Given the description of an element on the screen output the (x, y) to click on. 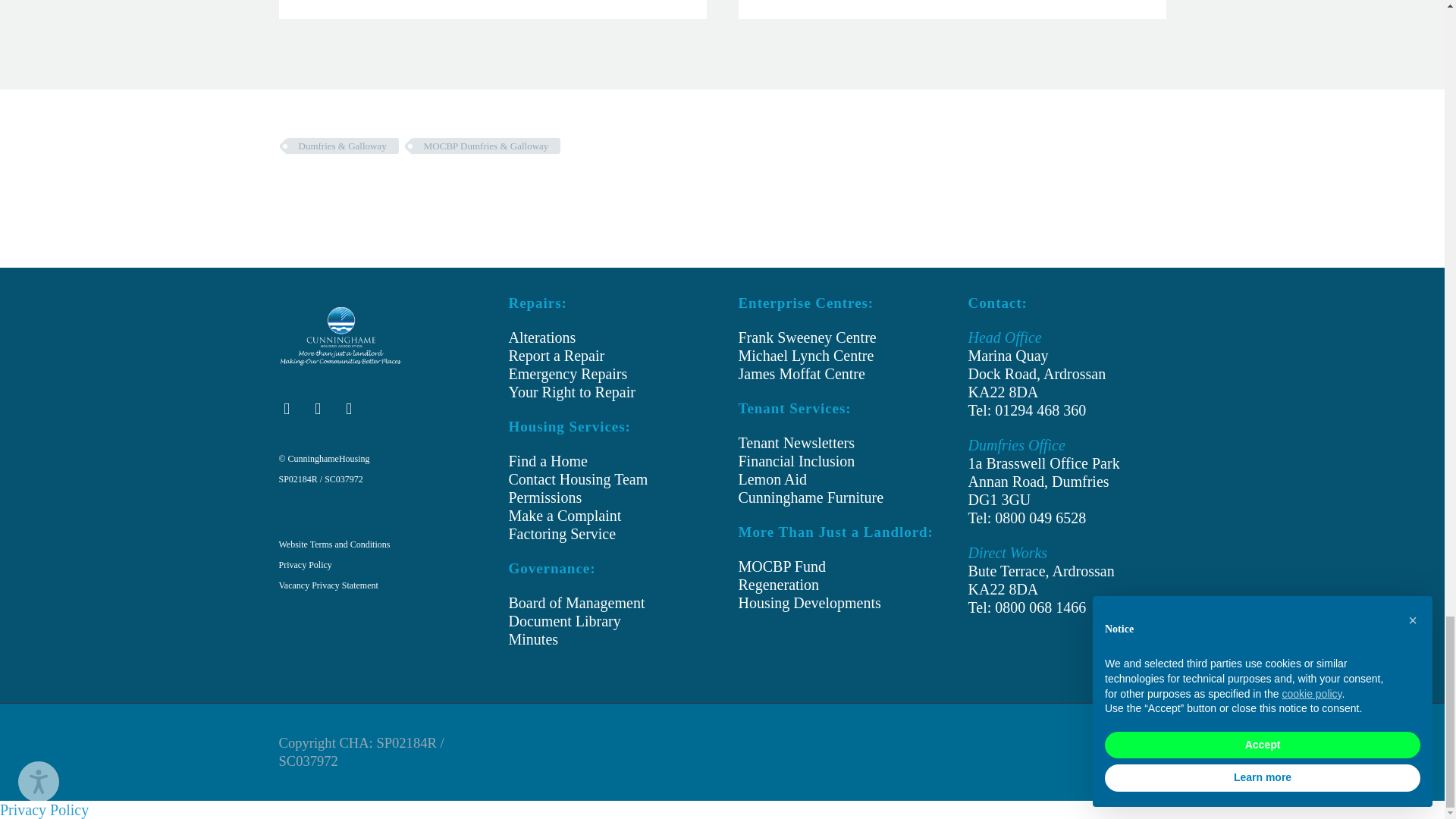
Facebook (1122, 744)
